Given the description of an element on the screen output the (x, y) to click on. 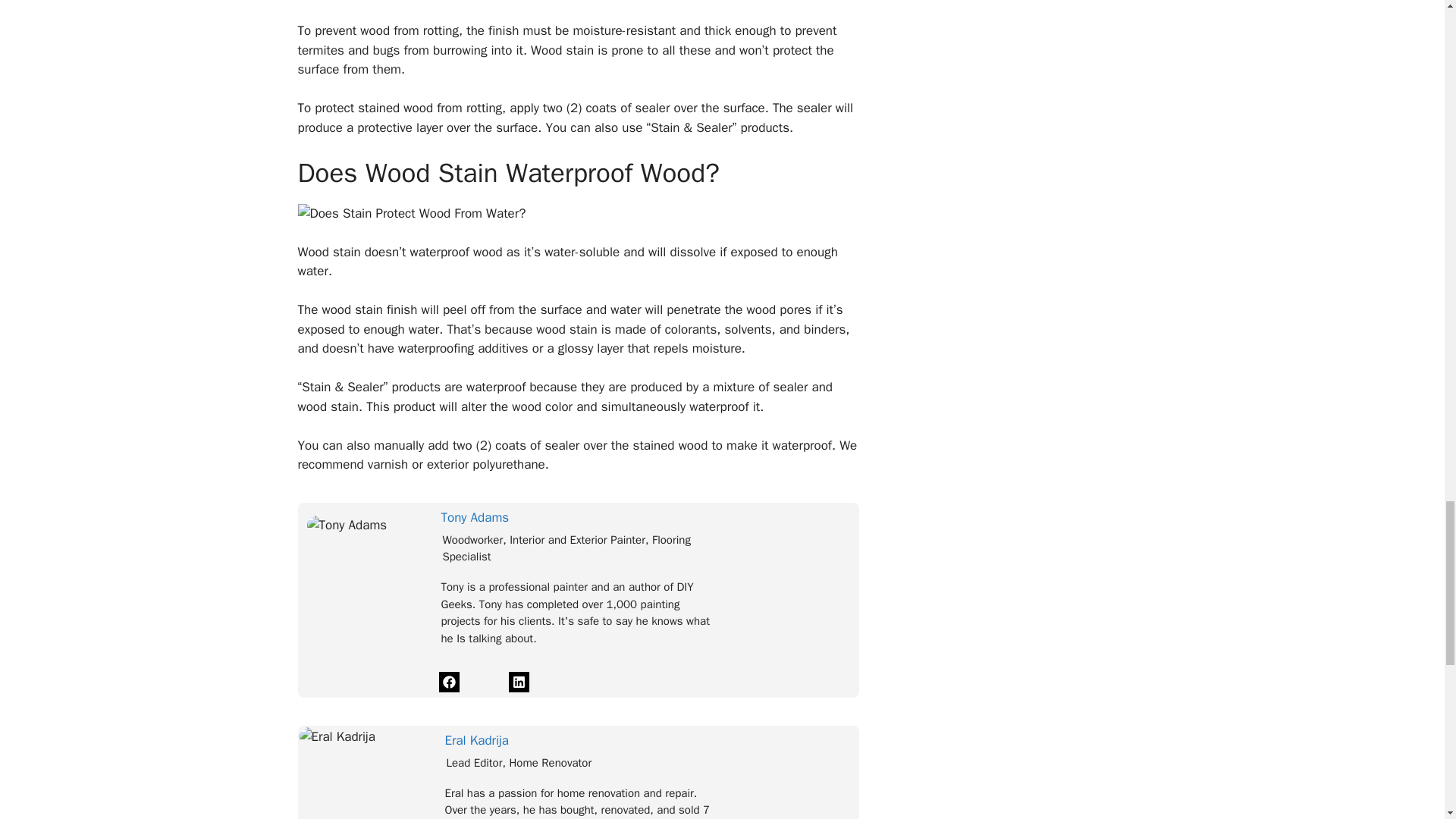
Tony Adams (475, 517)
Eral Kadrija (476, 740)
Tony Adams 1 (346, 525)
